Given the description of an element on the screen output the (x, y) to click on. 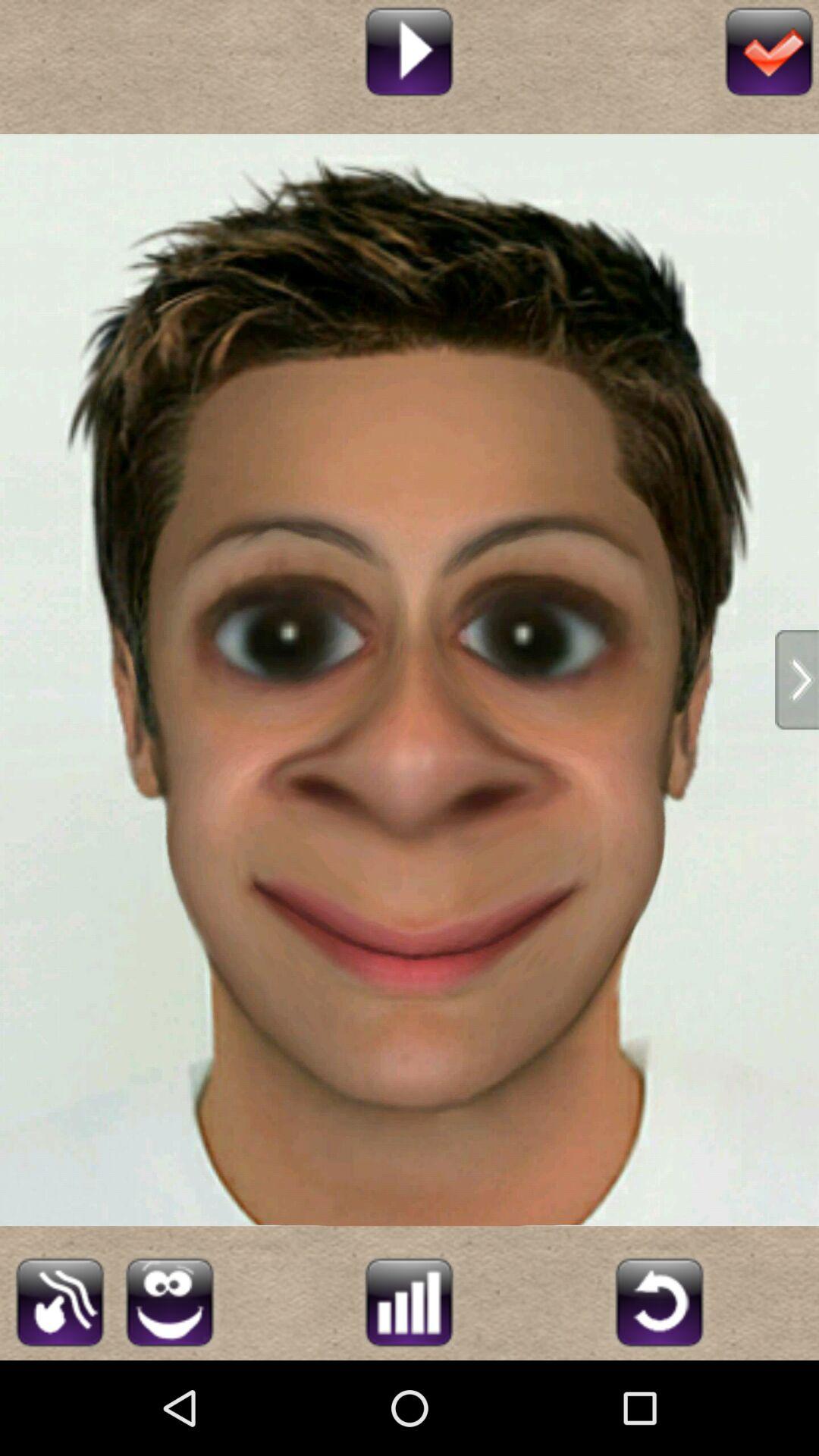
confirm and save your edits and filters on this photo (769, 49)
